Given the description of an element on the screen output the (x, y) to click on. 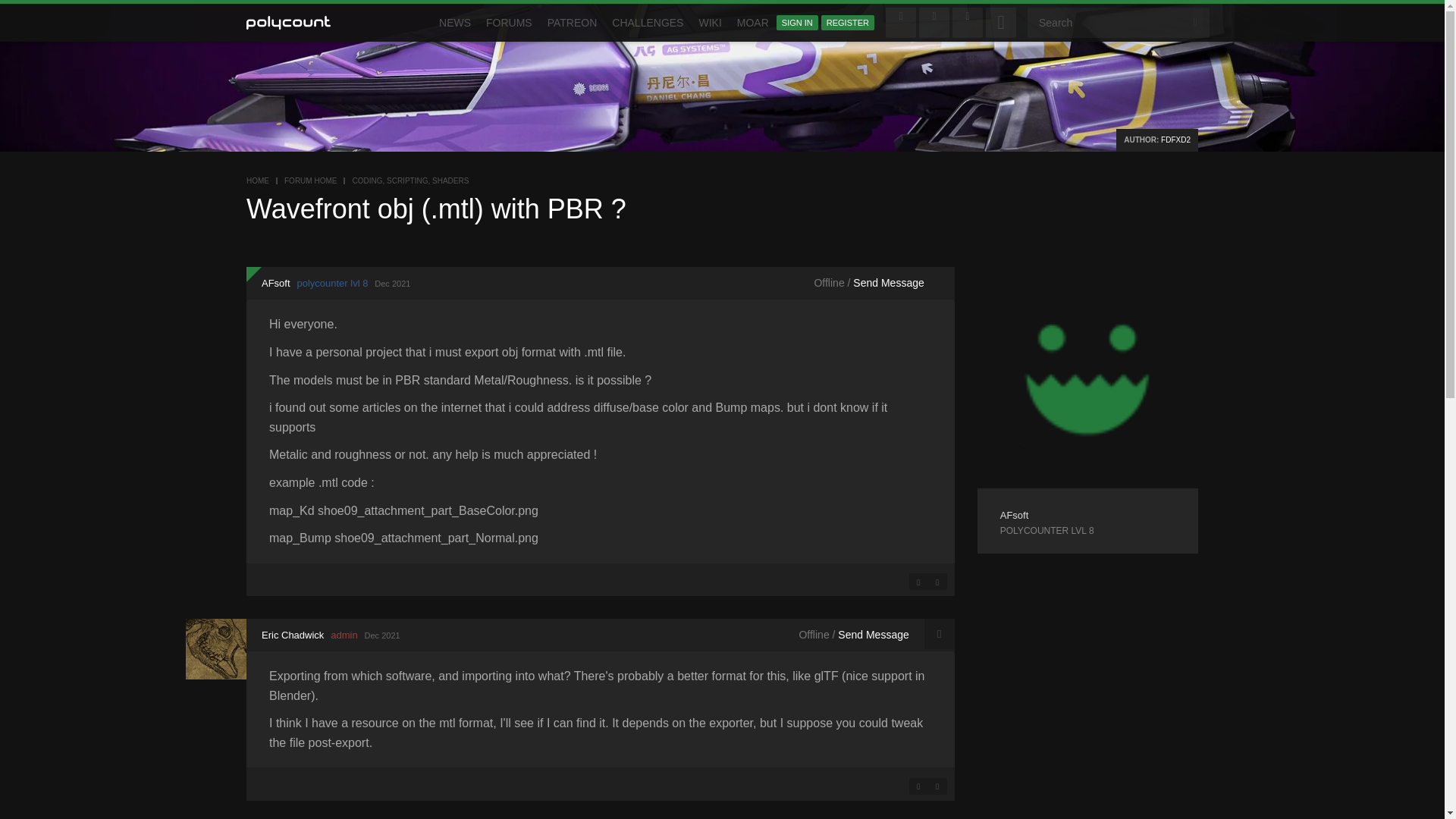
Sign In with Twitter (933, 22)
December 24, 2021 10:52AM (392, 283)
SHARE ON FACEBOOK (918, 581)
Sign In with Facebook (900, 22)
December 27, 2021 4:04PM (382, 634)
AFsoft (1014, 514)
Sign In with Steam (1000, 22)
NEWS (454, 22)
AFsoft (1087, 376)
Enter your search term. (1118, 22)
WIKI (709, 22)
FDFXD2 (1175, 139)
MOAR (752, 22)
polycounter lvl 8 (1087, 531)
FORUMS (509, 22)
